Given the description of an element on the screen output the (x, y) to click on. 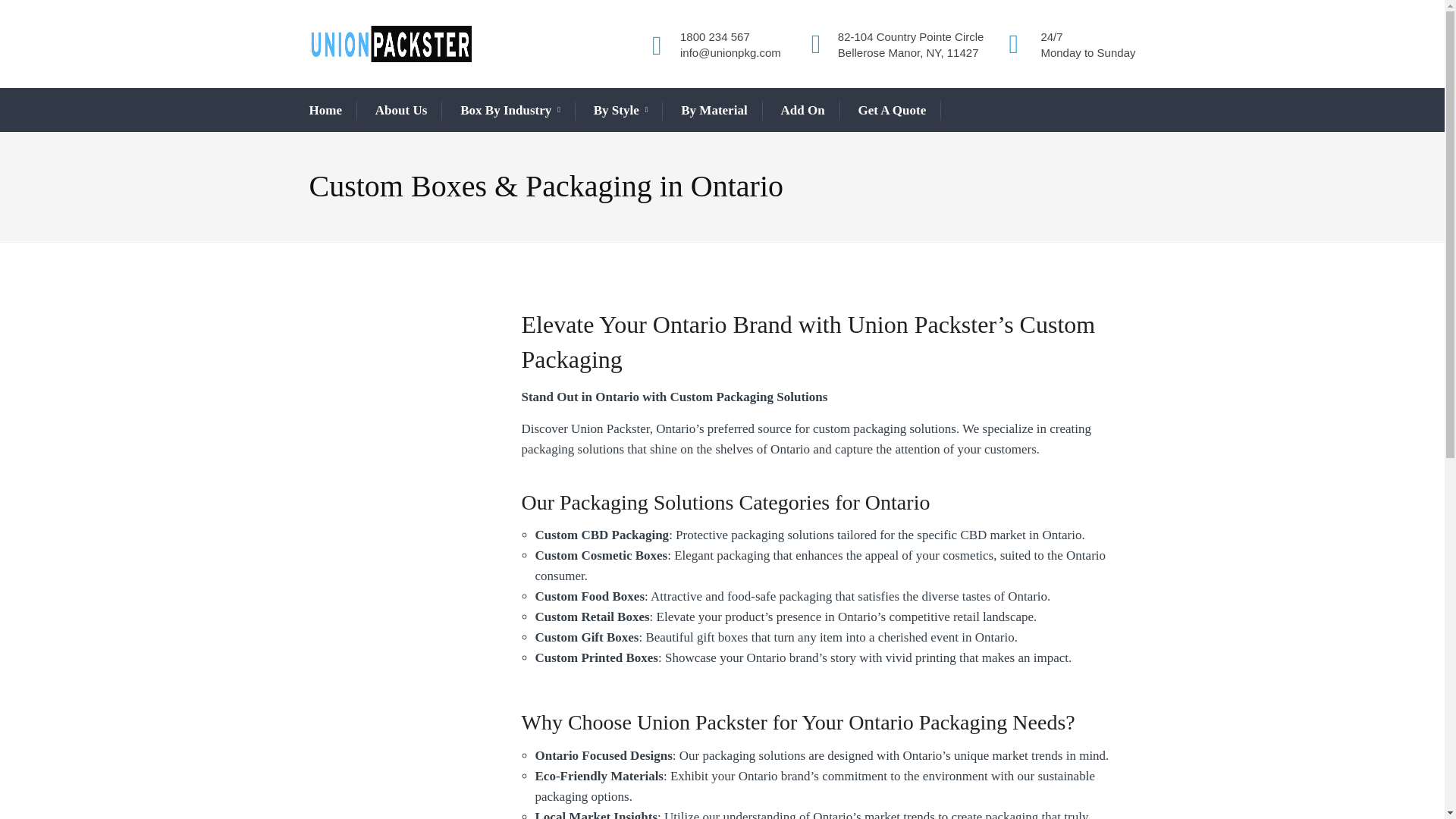
Get A Quote (892, 109)
By Material (713, 109)
Add On (802, 109)
By Style (620, 110)
Box By Industry (510, 110)
About Us (401, 109)
Home (325, 109)
